Given the description of an element on the screen output the (x, y) to click on. 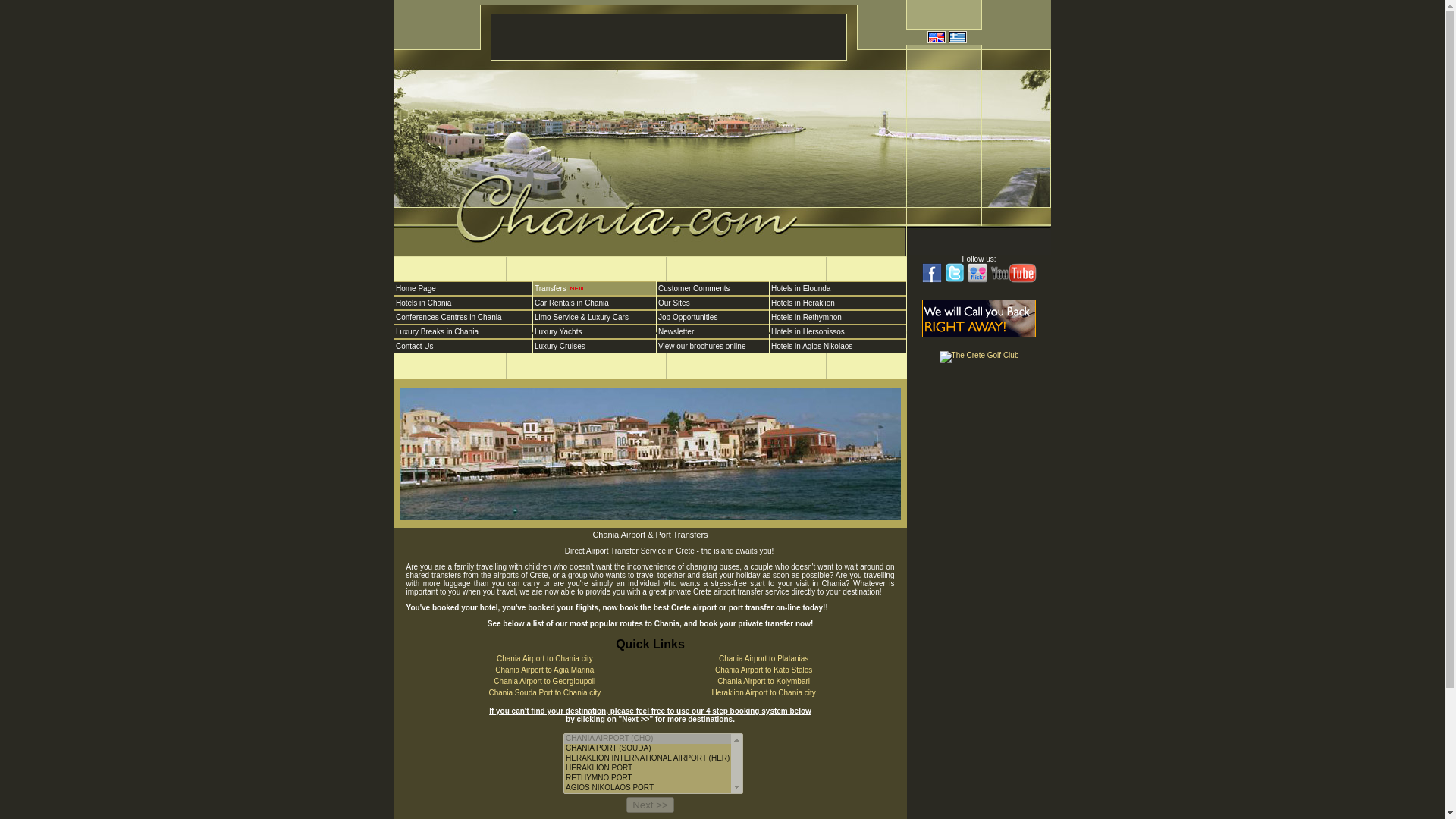
Car Rentals in Chania (594, 302)
Hotels in Chania (463, 302)
Luxury Hotels in Elounda (837, 287)
Our Sites (712, 302)
Hotels in Agios Nikolaos (837, 345)
Chania.com - Job opportunities (712, 316)
Contact Us (463, 345)
Luxury and Economy Hotels in Rethymnon (837, 316)
Chania Airport to Kato Stalos (763, 669)
Chania Airport to Chania city (544, 658)
